Given the description of an element on the screen output the (x, y) to click on. 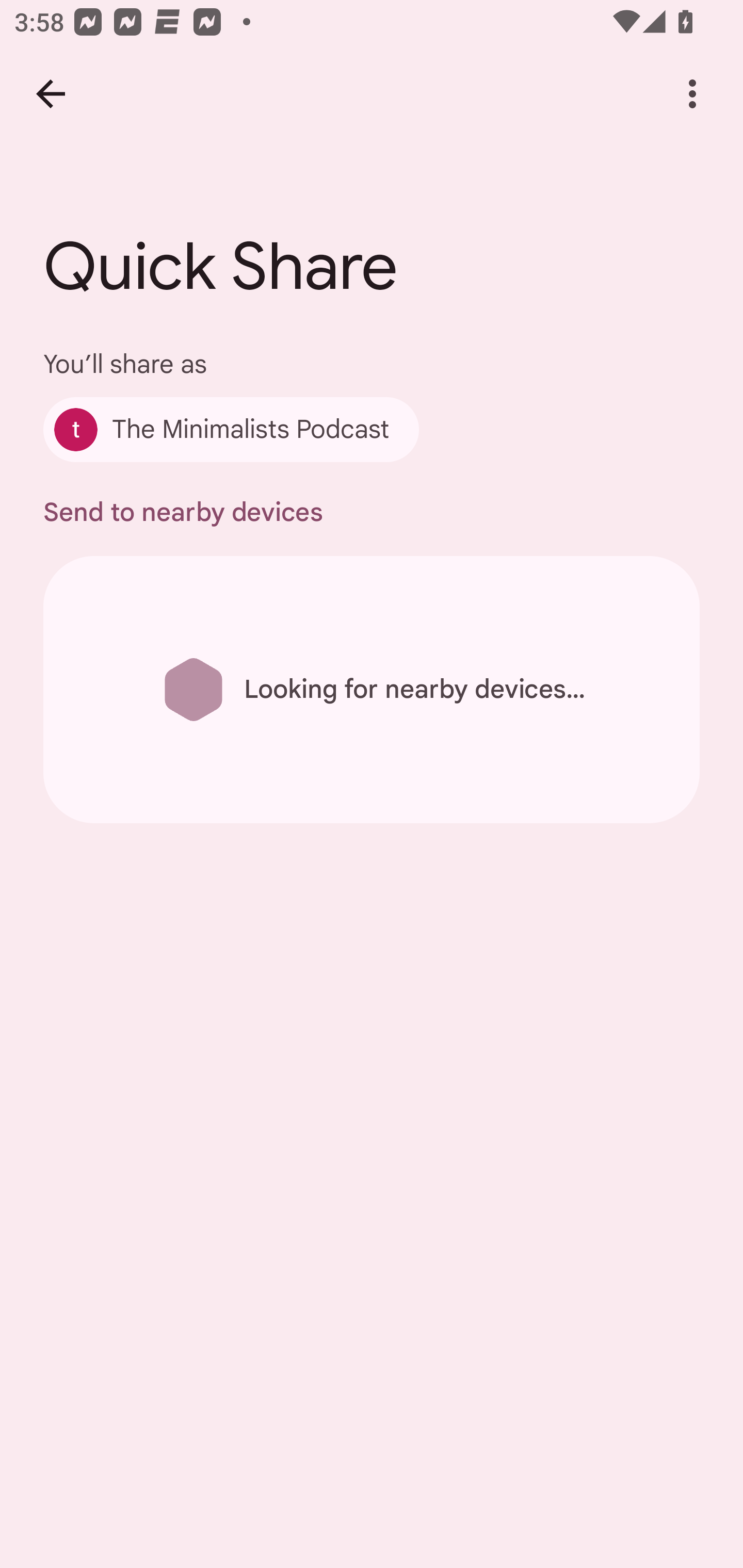
Back (50, 93)
More (692, 93)
The Minimalists Podcast (231, 429)
